Given the description of an element on the screen output the (x, y) to click on. 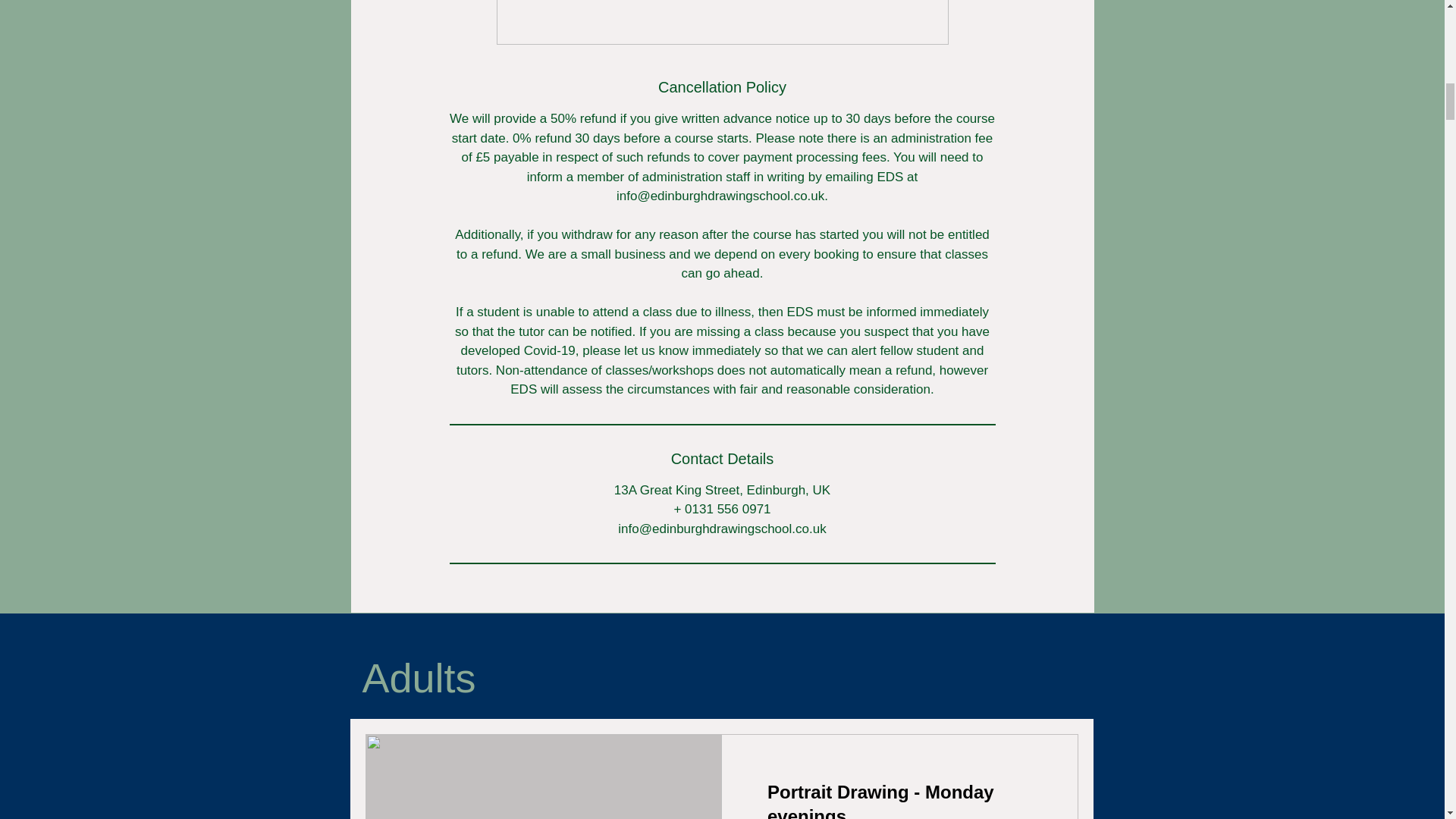
Portrait Drawing - Monday evenings (899, 799)
